Given the description of an element on the screen output the (x, y) to click on. 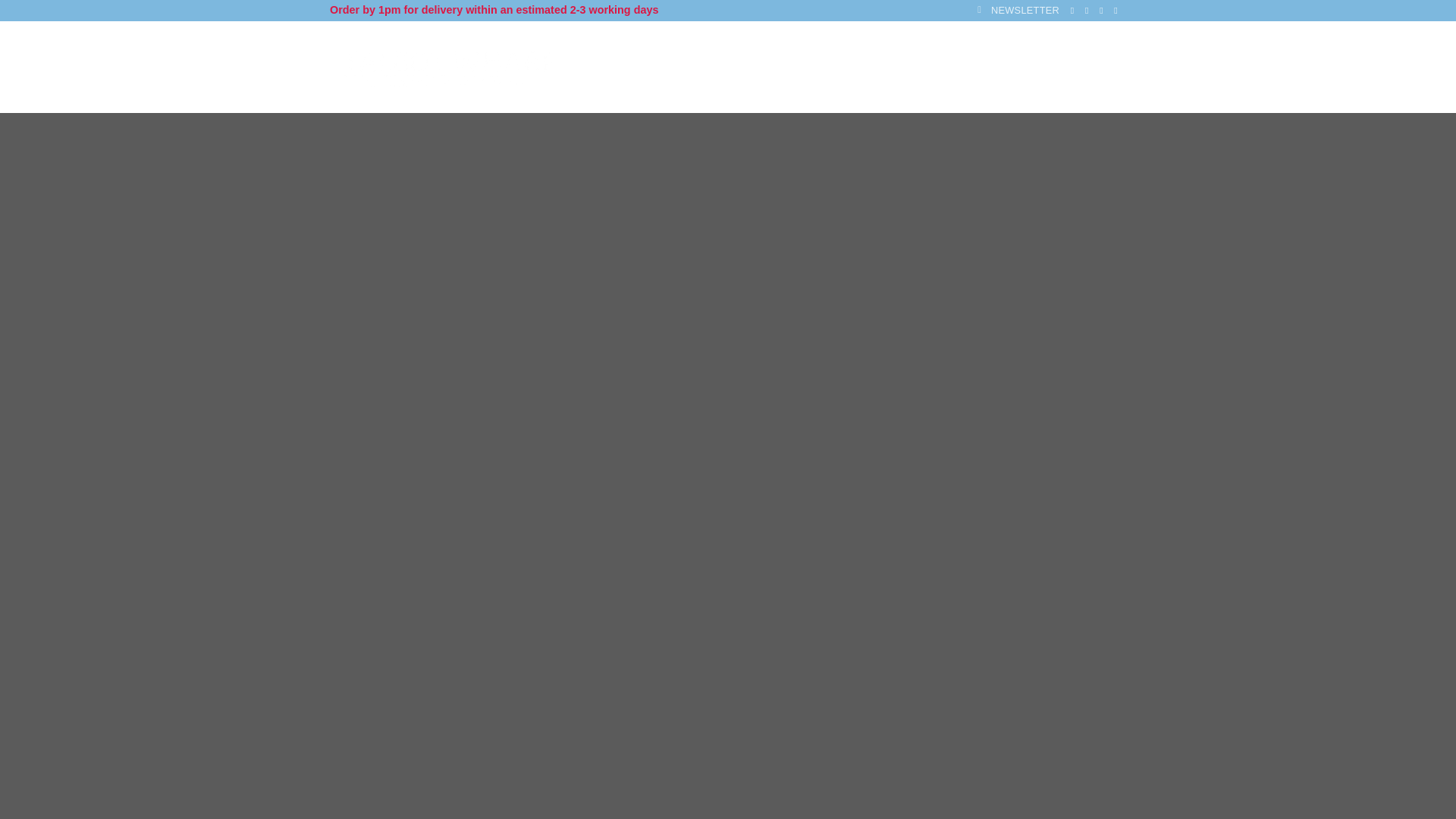
Talbot Wharf - Shop boating, leisure and towing products (448, 67)
NEWSLETTER (1017, 10)
